Given the description of an element on the screen output the (x, y) to click on. 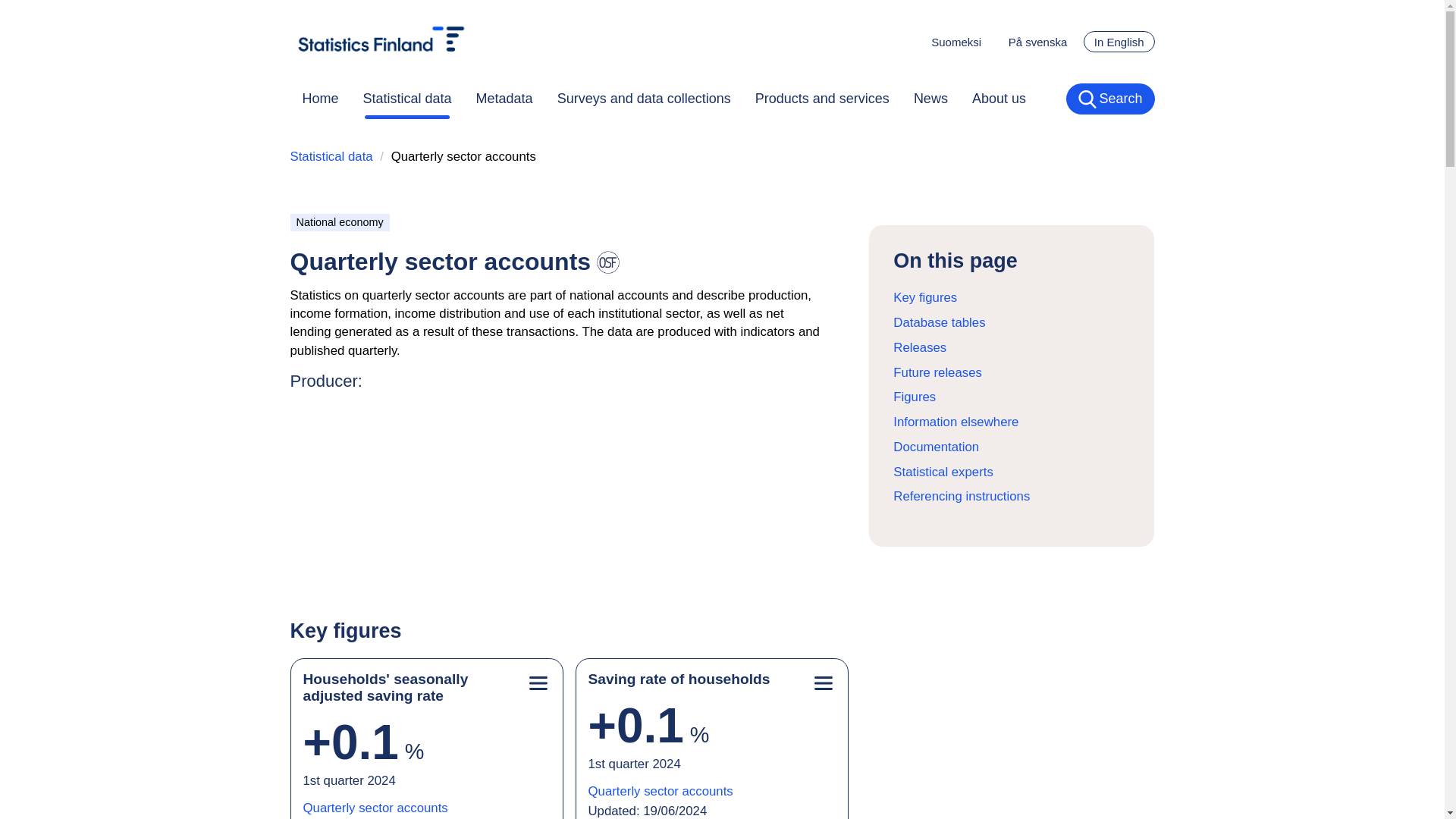
Search (1109, 99)
Database tables (939, 322)
Quarterly sector accounts (375, 809)
Documentation (935, 446)
Statistical experts (942, 472)
Suomeksi (955, 42)
Products and services (821, 98)
Menu (537, 683)
Quarterly sector accounts (660, 793)
Home (319, 98)
Information elsewhere (955, 421)
News (930, 98)
Referencing instructions (961, 495)
Metadata (504, 98)
National economy (338, 221)
